Given the description of an element on the screen output the (x, y) to click on. 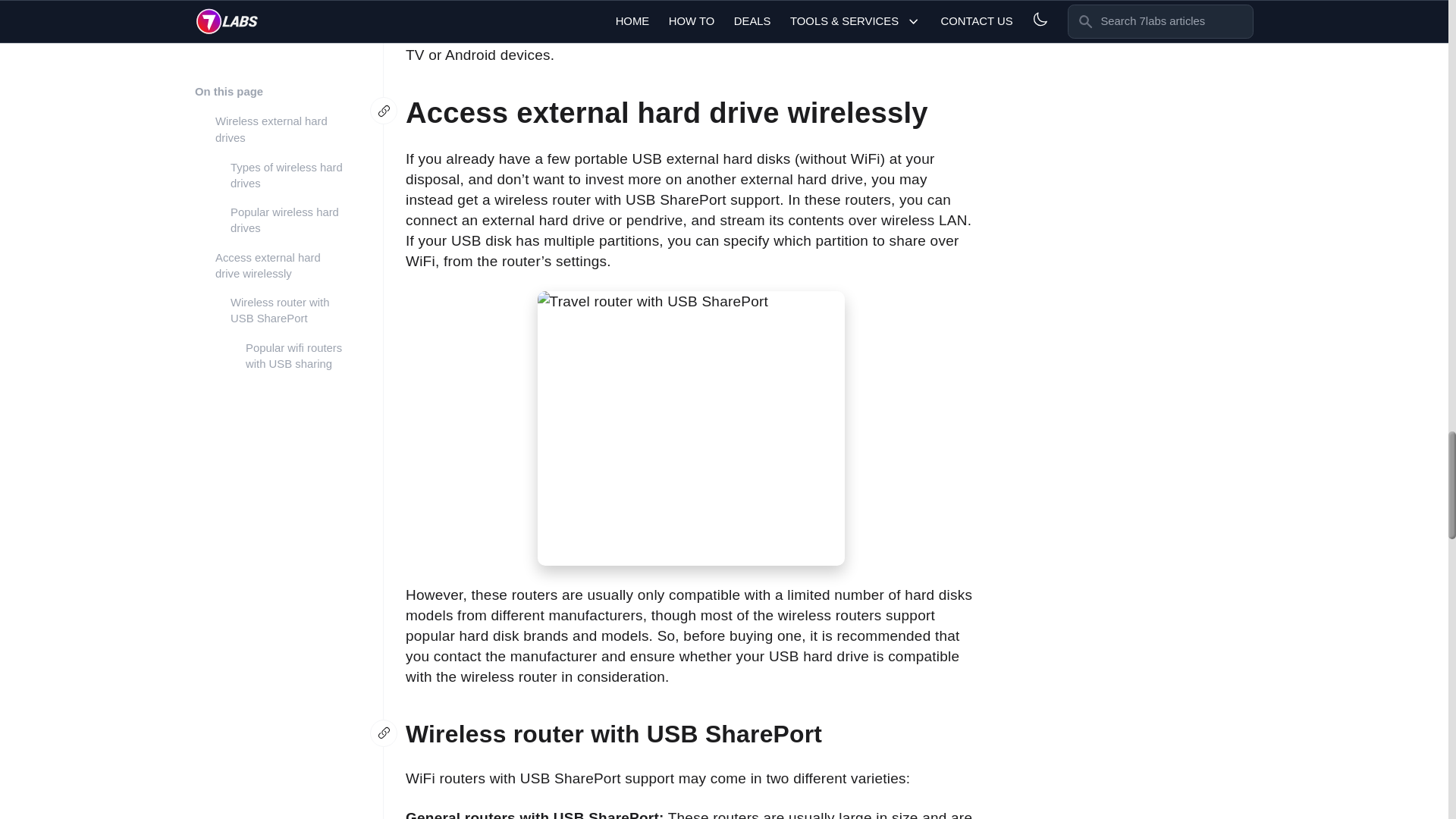
Seagate Central (459, 0)
Home Sharing, Media Streaming, Wireless Backup - Seagate (459, 0)
